Given the description of an element on the screen output the (x, y) to click on. 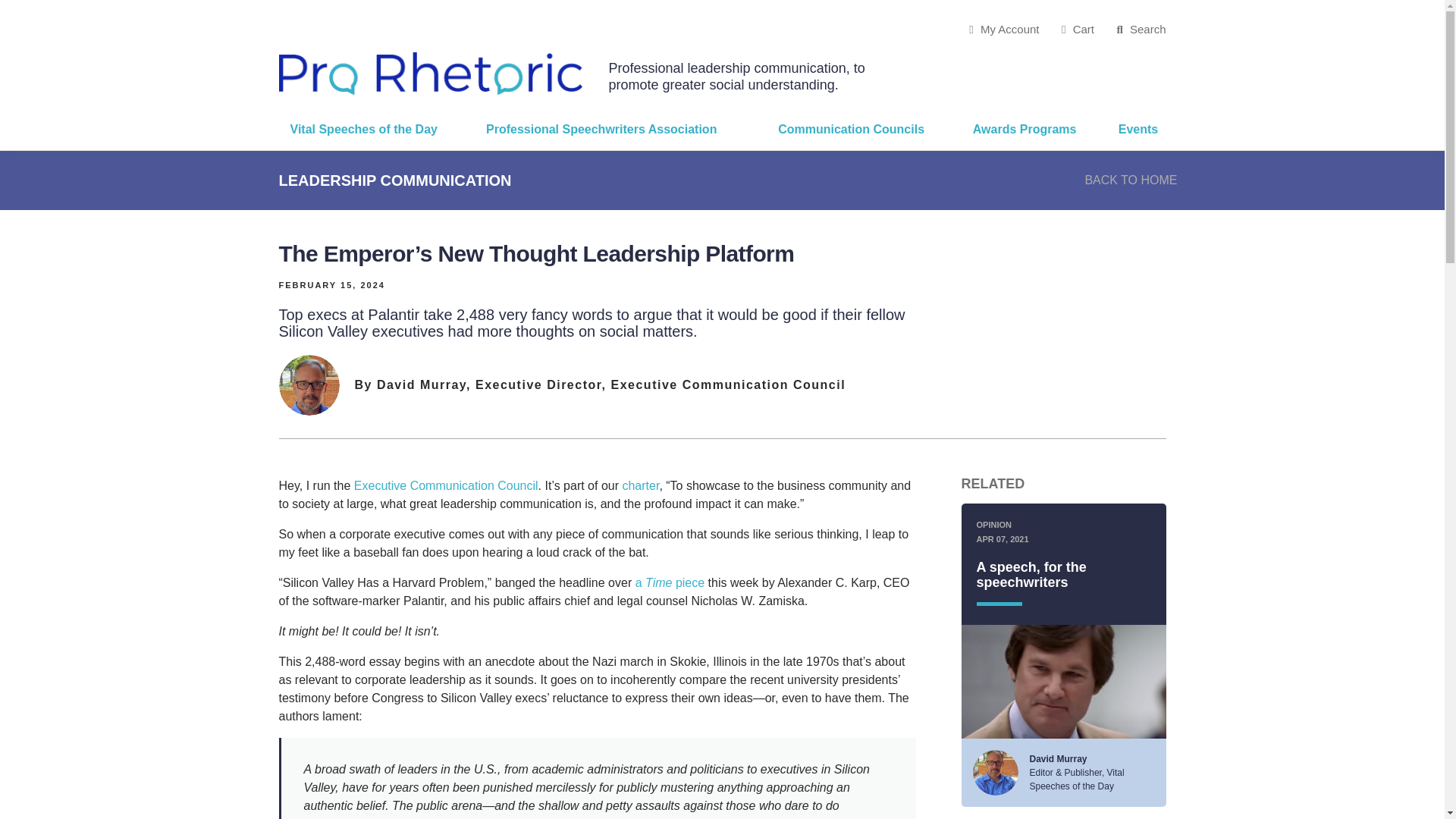
Executive Communication Council (445, 485)
a Time piece (669, 582)
charter (640, 485)
My Account (1004, 29)
Vital Speeches of the Day (377, 128)
Awards Programs (1033, 128)
Professional Speechwriters Association (620, 128)
LEADERSHIP COMMUNICATION (395, 179)
Events (1136, 128)
Communication Councils (863, 128)
BACK TO HOME (1130, 180)
Cart (1077, 29)
